Given the description of an element on the screen output the (x, y) to click on. 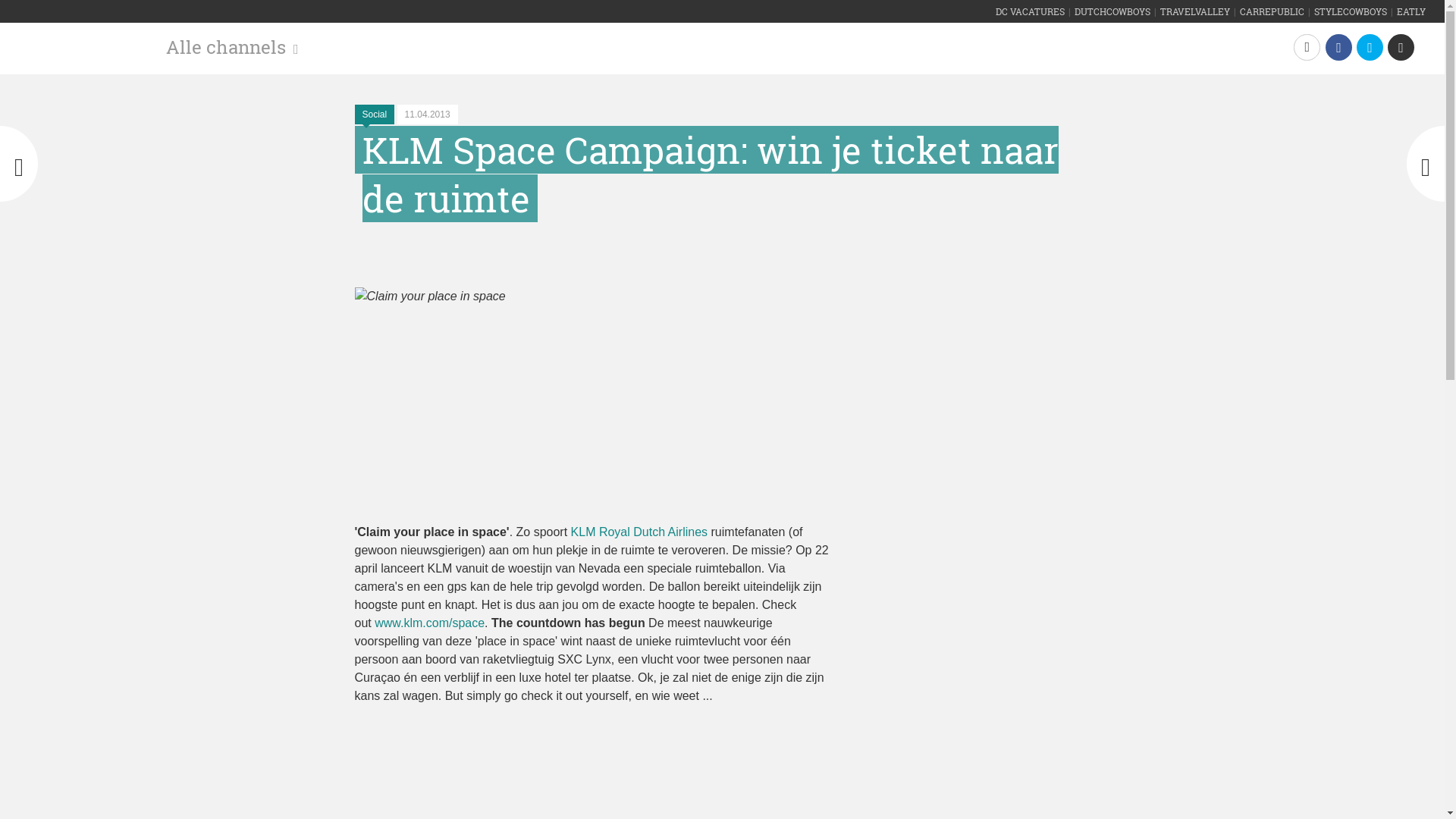
CARREPUBLIC Element type: text (1271, 11)
Email Element type: text (1400, 47)
DC VACATURES Element type: text (1029, 11)
KLM Royal Dutch Airlines Element type: text (639, 531)
Social Element type: text (374, 114)
TRAVELVALLEY Element type: text (1195, 11)
Facebook Element type: text (1338, 47)
Twitter Element type: text (1369, 47)
BelgianCowboys Element type: text (76, 38)
www.klm.com/space Element type: text (429, 622)
EATLY Element type: text (1410, 11)
DUTCHCOWBOYS Element type: text (1112, 11)
STYLECOWBOYS Element type: text (1350, 11)
